Given the description of an element on the screen output the (x, y) to click on. 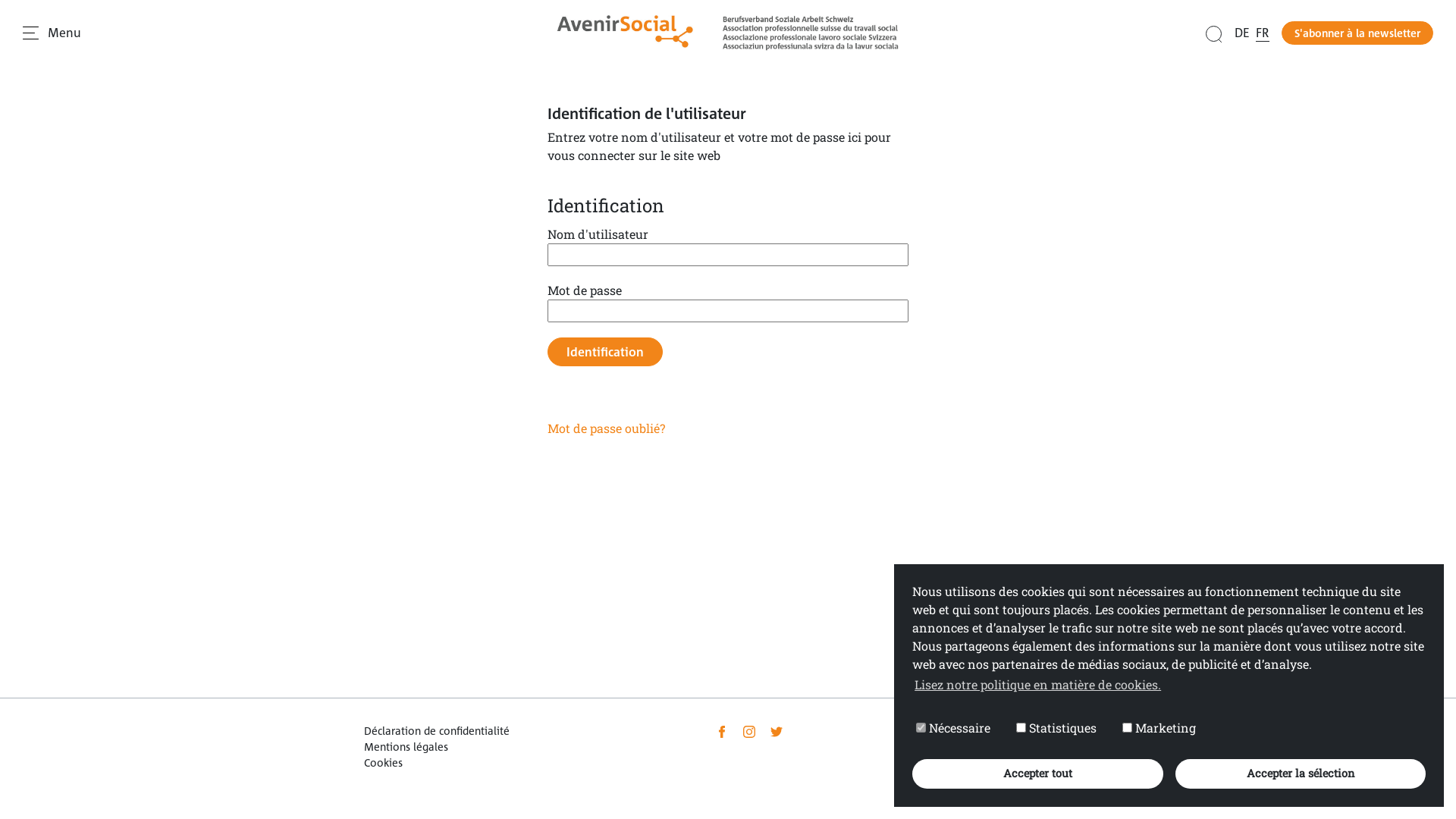
Menu Element type: text (51, 32)
DE Element type: text (1241, 32)
Accepter tout Element type: text (1037, 773)
FR Element type: text (1262, 32)
Page d'accueil Element type: hover (727, 32)
Cookies Element type: text (383, 762)
Identification Element type: text (604, 351)
